Given the description of an element on the screen output the (x, y) to click on. 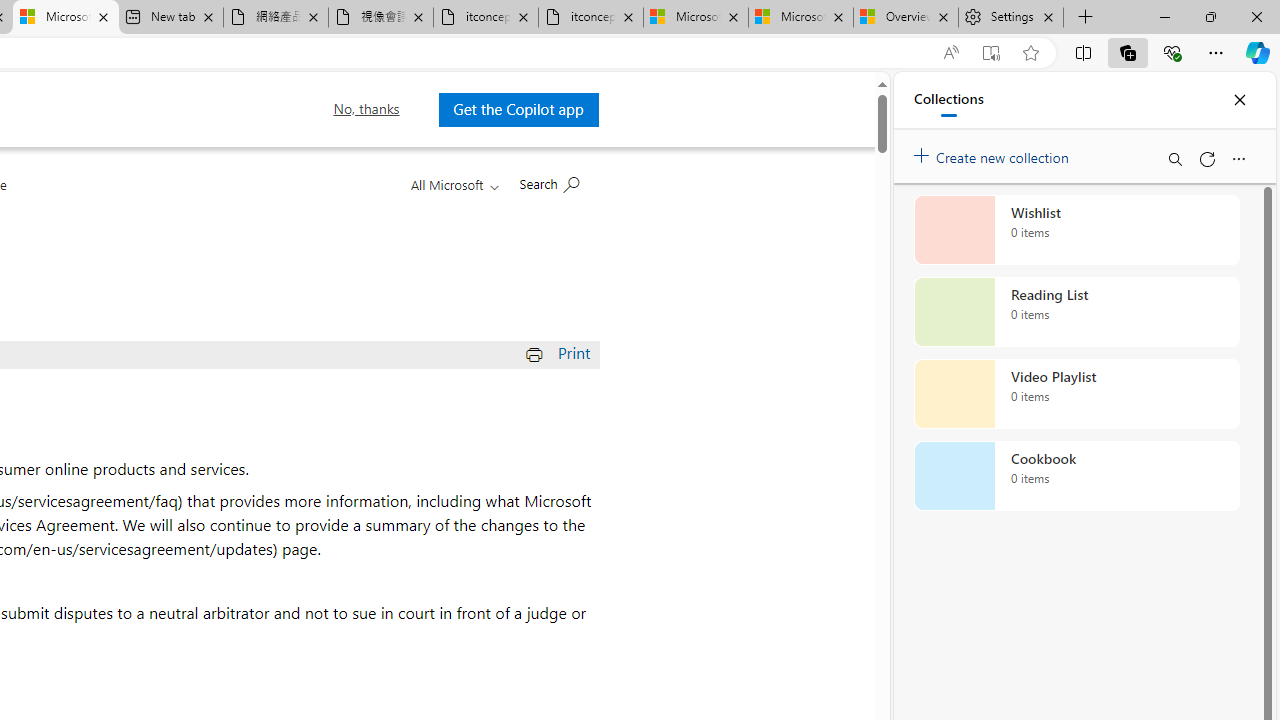
Get the Copilot app  (518, 109)
More options menu (1238, 158)
Cookbook collection, 0 items (1076, 475)
Print (560, 352)
